Given the description of an element on the screen output the (x, y) to click on. 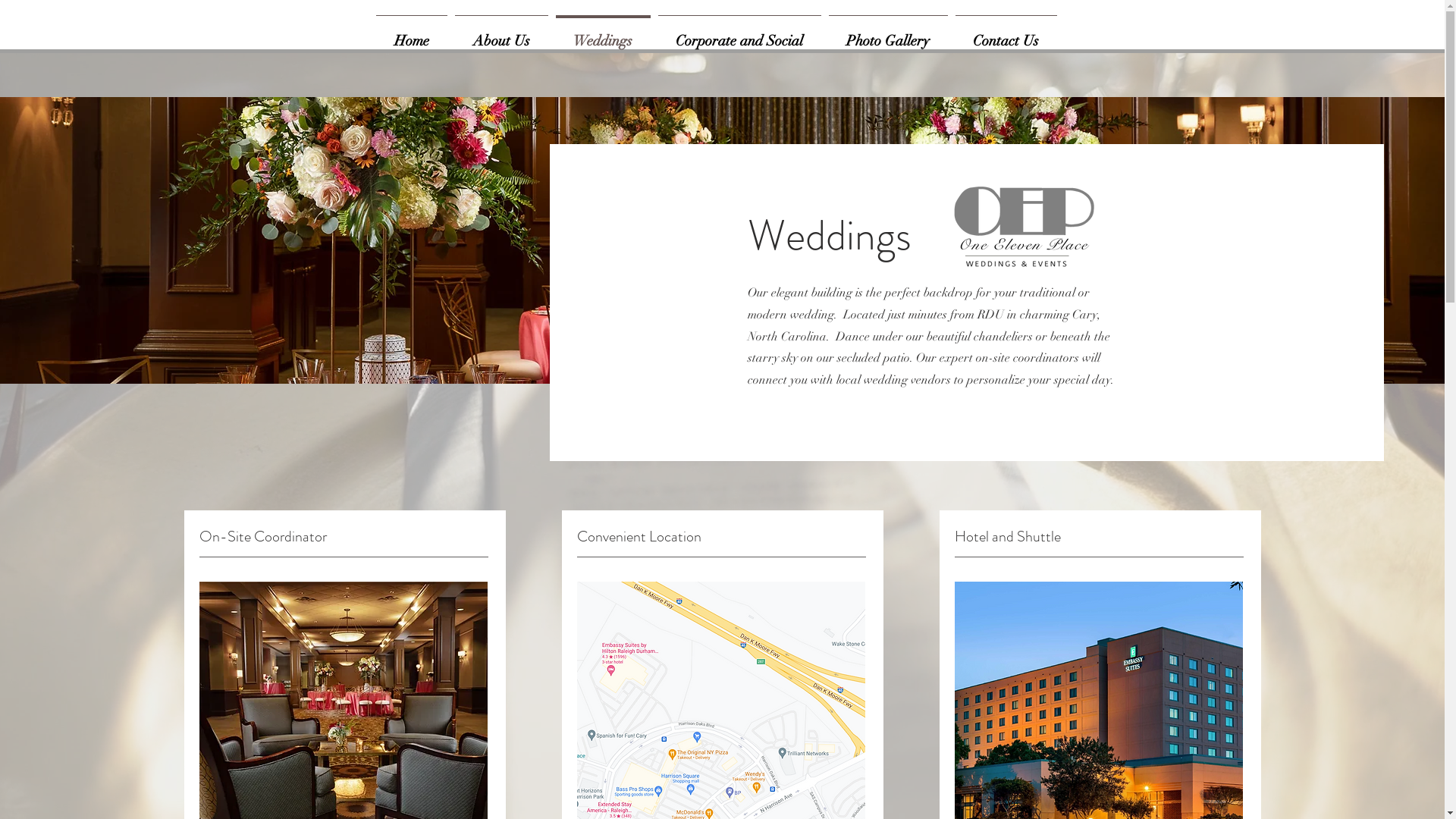
Home Element type: text (410, 34)
Corporate and Social Element type: text (738, 34)
Contact Us Element type: text (1005, 34)
Weddings Element type: text (603, 34)
Photo Gallery Element type: text (888, 34)
About Us Element type: text (500, 34)
